Given the description of an element on the screen output the (x, y) to click on. 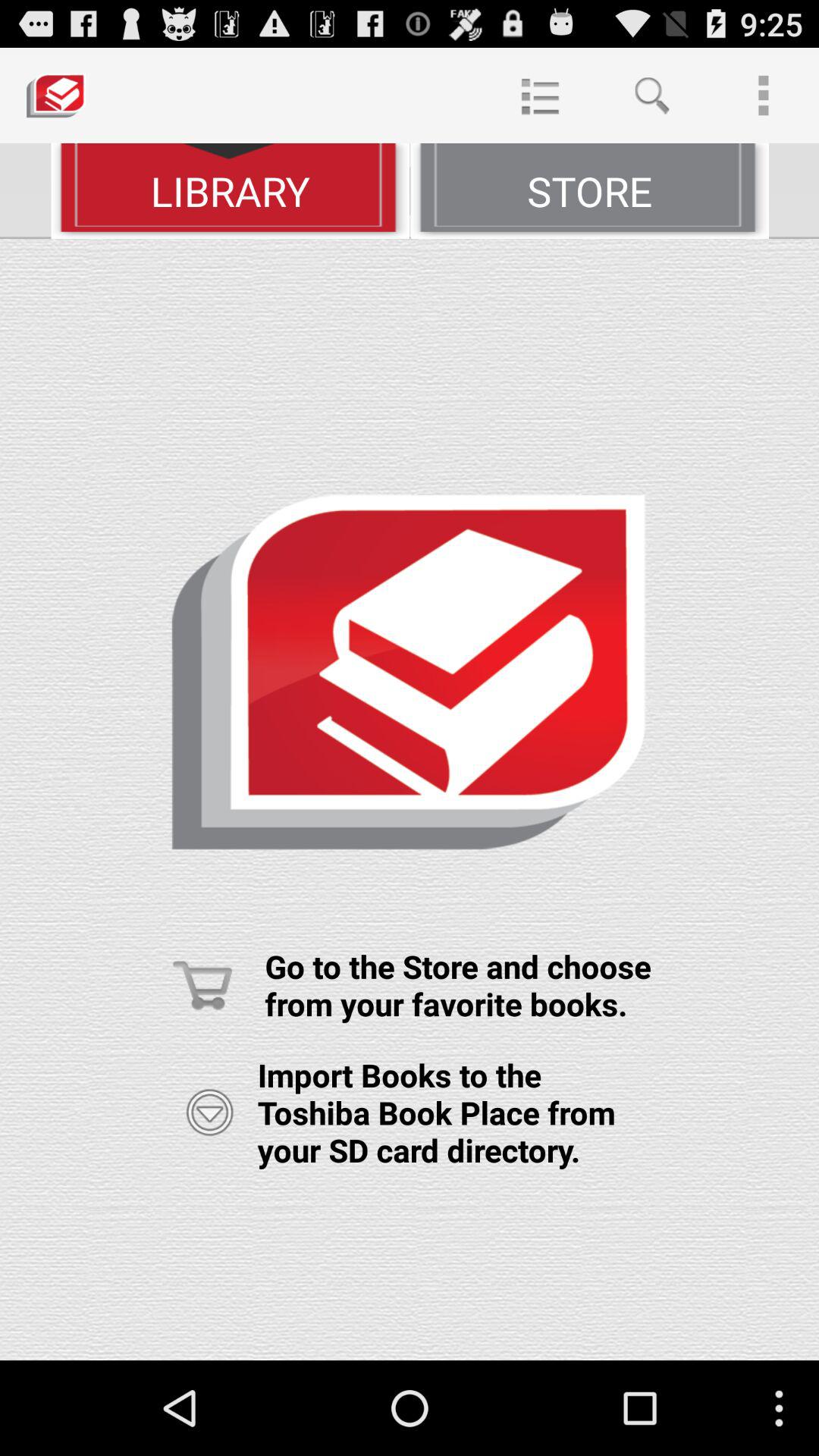
choose the item above the store item (651, 95)
